Given the description of an element on the screen output the (x, y) to click on. 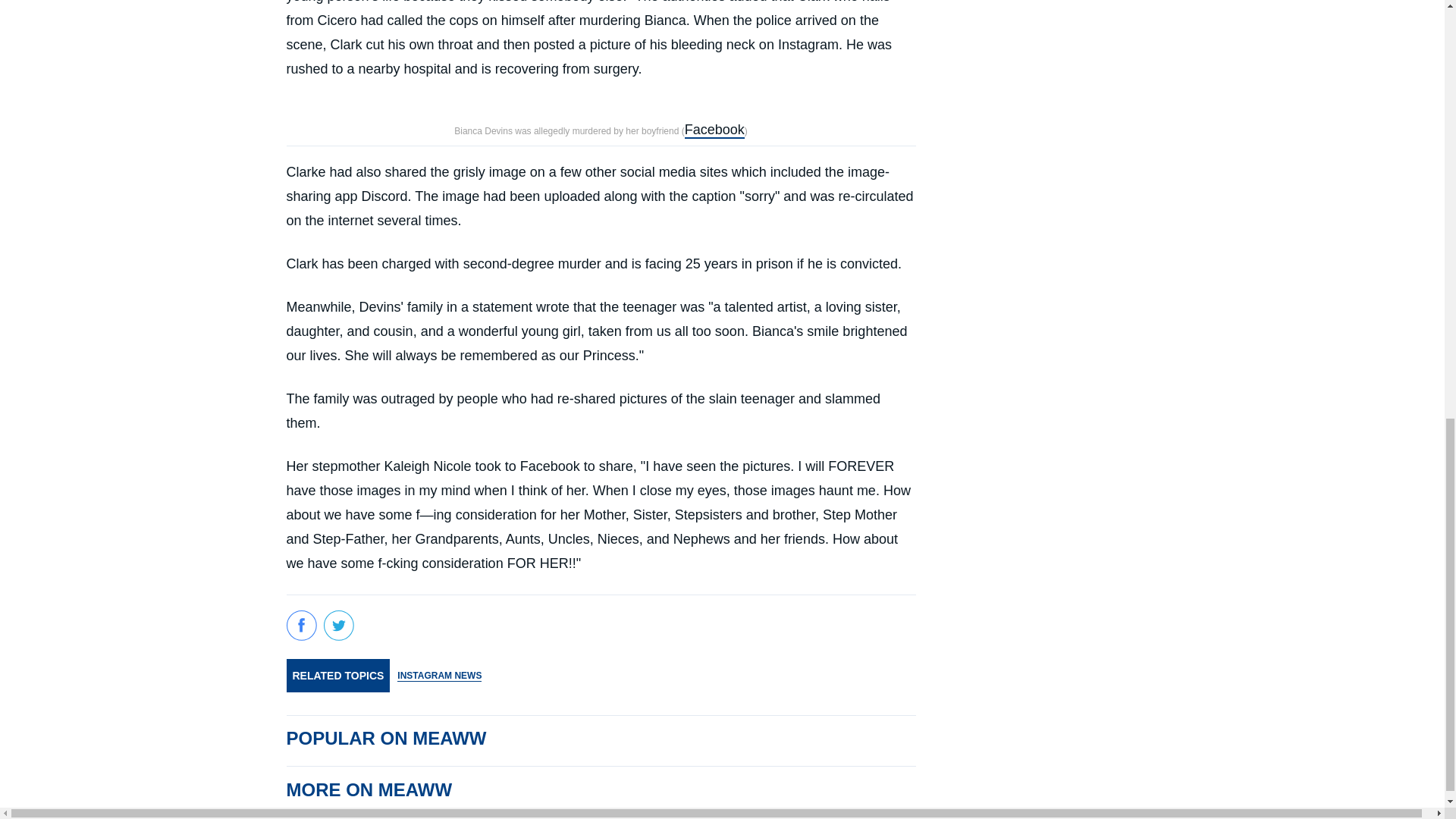
INSTAGRAM NEWS (439, 675)
Facebook (714, 130)
